Given the description of an element on the screen output the (x, y) to click on. 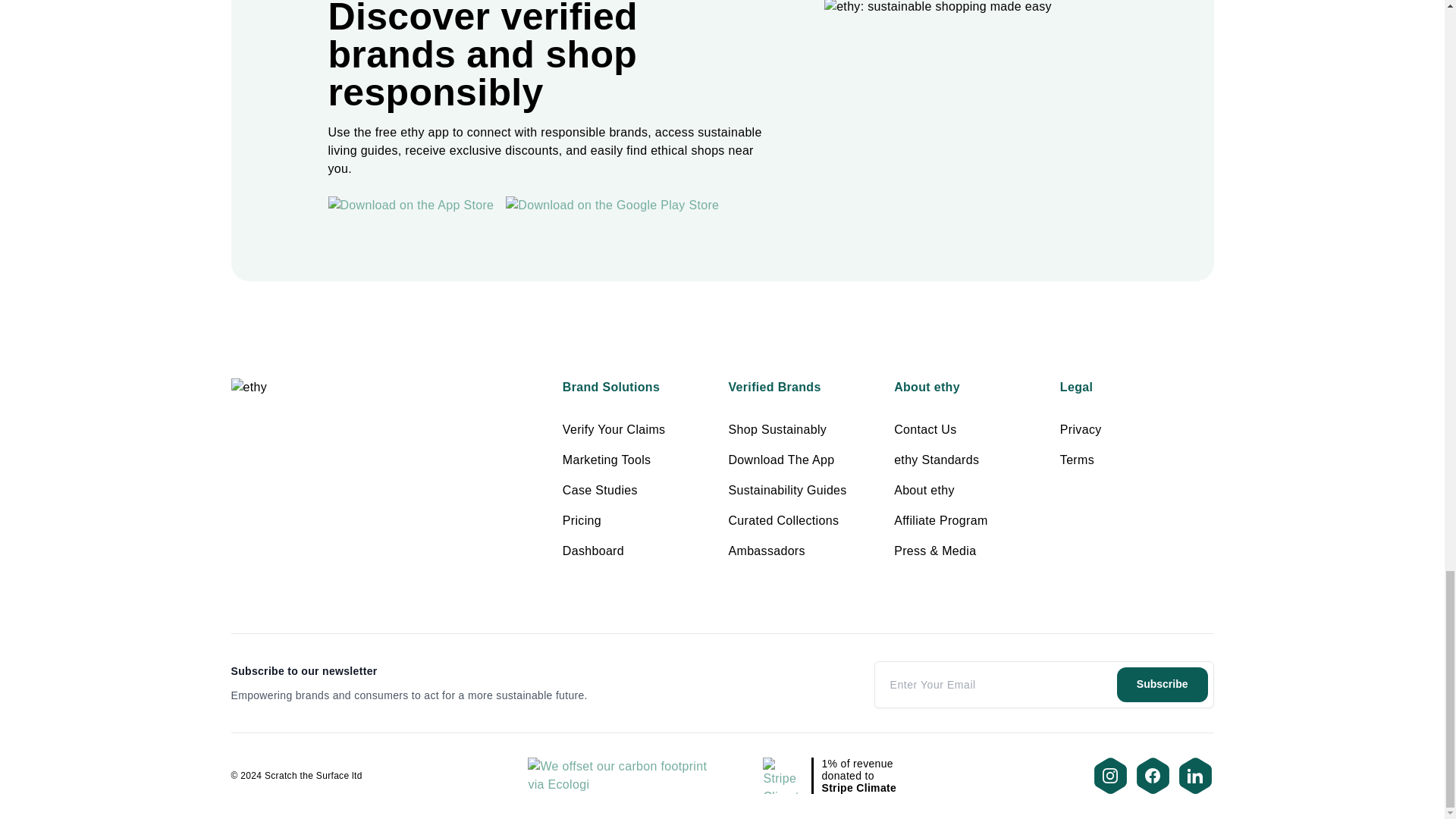
View our Ecologi profile (622, 775)
